Given the description of an element on the screen output the (x, y) to click on. 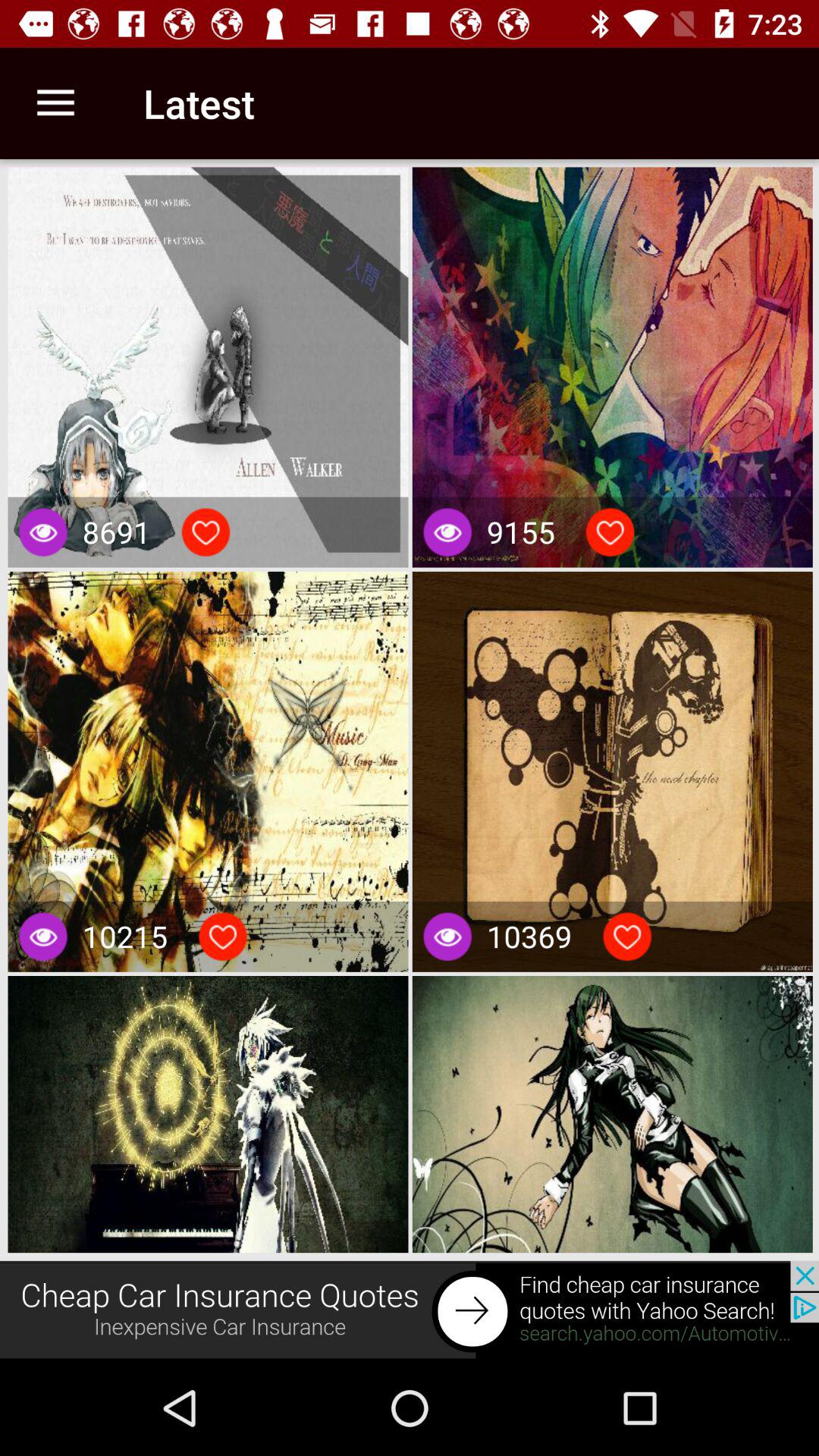
add this to favourite (205, 532)
